Given the description of an element on the screen output the (x, y) to click on. 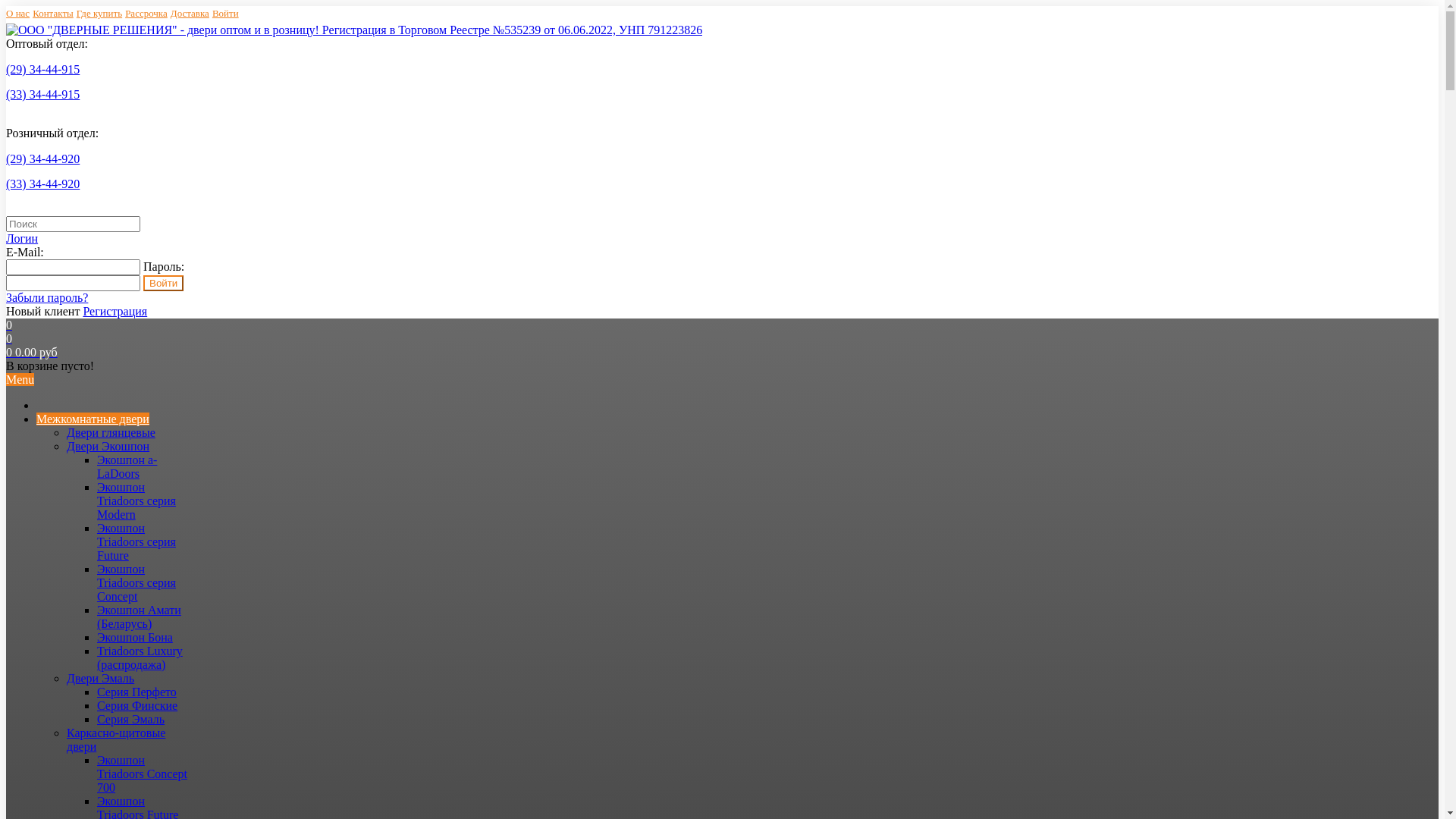
0 Element type: text (9, 338)
(29) 34-44-920 Element type: text (42, 158)
(33) 34-44-915 Element type: text (42, 93)
(29) 34-44-915 Element type: text (42, 68)
0 Element type: text (9, 324)
Menu Element type: text (20, 379)
(33) 34-44-920 Element type: text (42, 183)
